Given the description of an element on the screen output the (x, y) to click on. 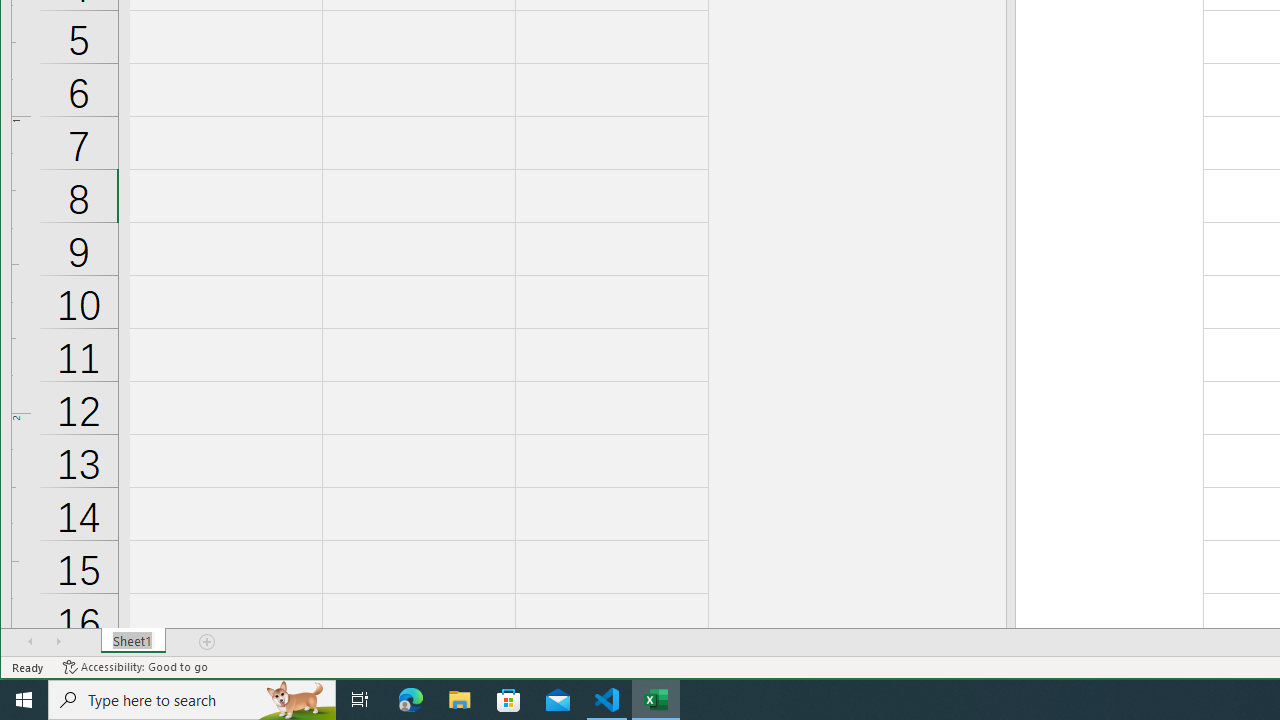
Microsoft Edge (411, 699)
File Explorer (460, 699)
Excel - 1 running window (656, 699)
Type here to search (191, 699)
Microsoft Store (509, 699)
Start (24, 699)
Task View (359, 699)
Visual Studio Code - 1 running window (607, 699)
Sheet Tab (133, 641)
Search highlights icon opens search home window (295, 699)
